Given the description of an element on the screen output the (x, y) to click on. 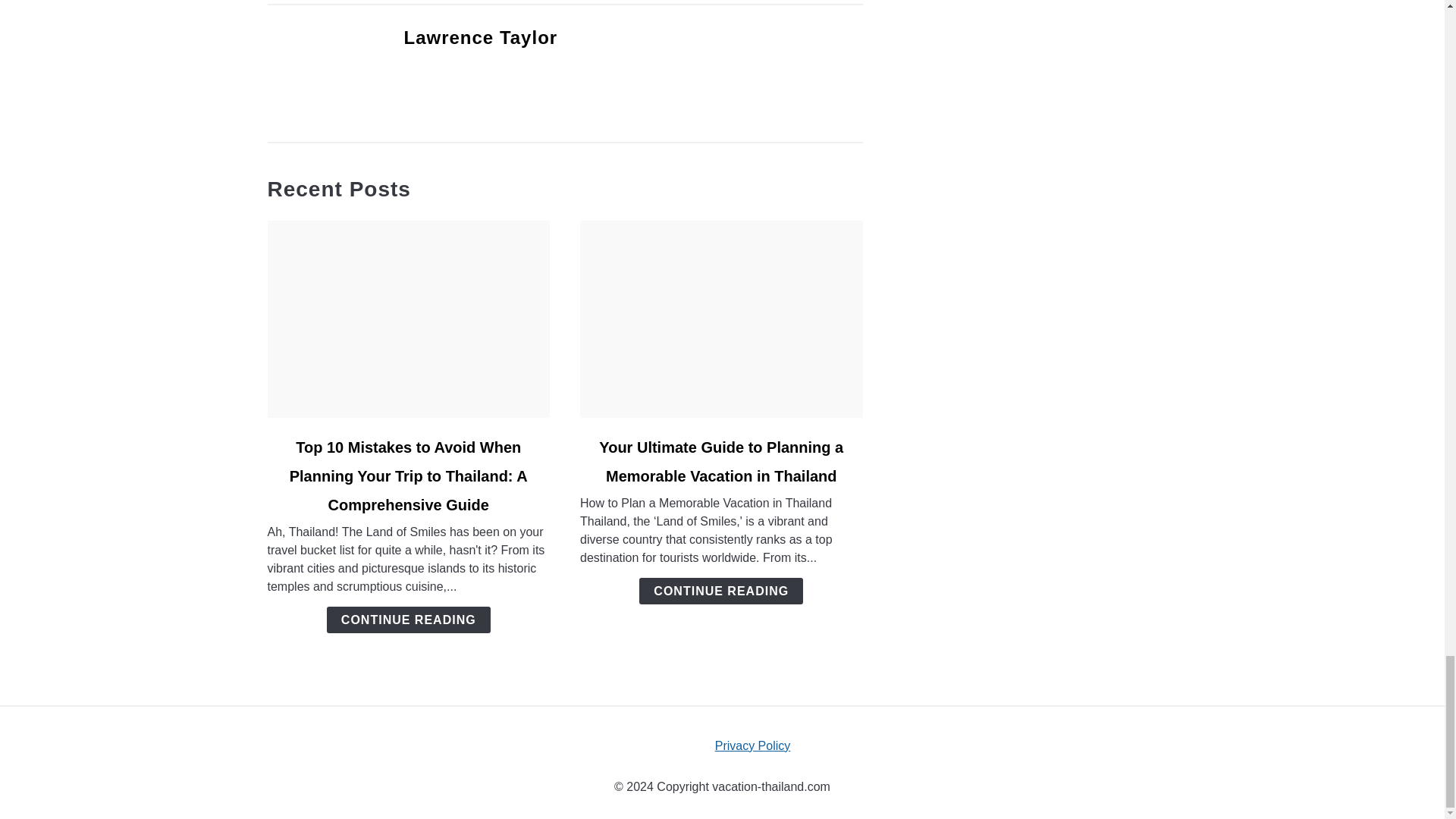
CONTINUE READING (408, 619)
CONTINUE READING (721, 591)
Lawrence Taylor (480, 37)
Privacy Policy (752, 745)
